Given the description of an element on the screen output the (x, y) to click on. 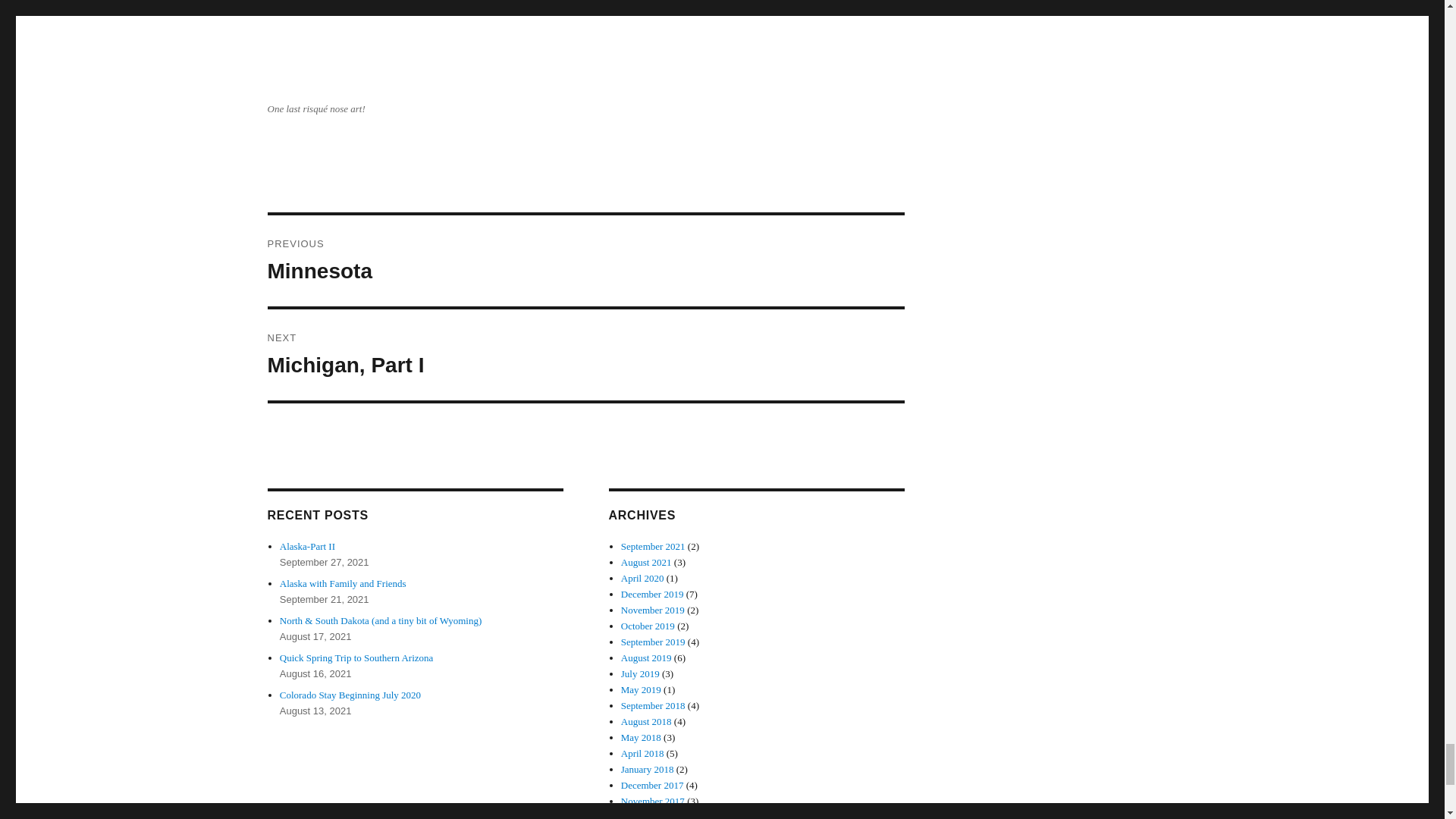
September 2021 (653, 546)
January 2018 (647, 768)
October 2017 (648, 815)
August 2021 (646, 562)
September 2019 (653, 641)
August 2019 (646, 657)
December 2017 (585, 260)
November 2019 (652, 785)
October 2019 (652, 609)
April 2020 (648, 625)
Colorado Stay Beginning July 2020 (642, 577)
April 2018 (349, 695)
May 2018 (642, 753)
